Given the description of an element on the screen output the (x, y) to click on. 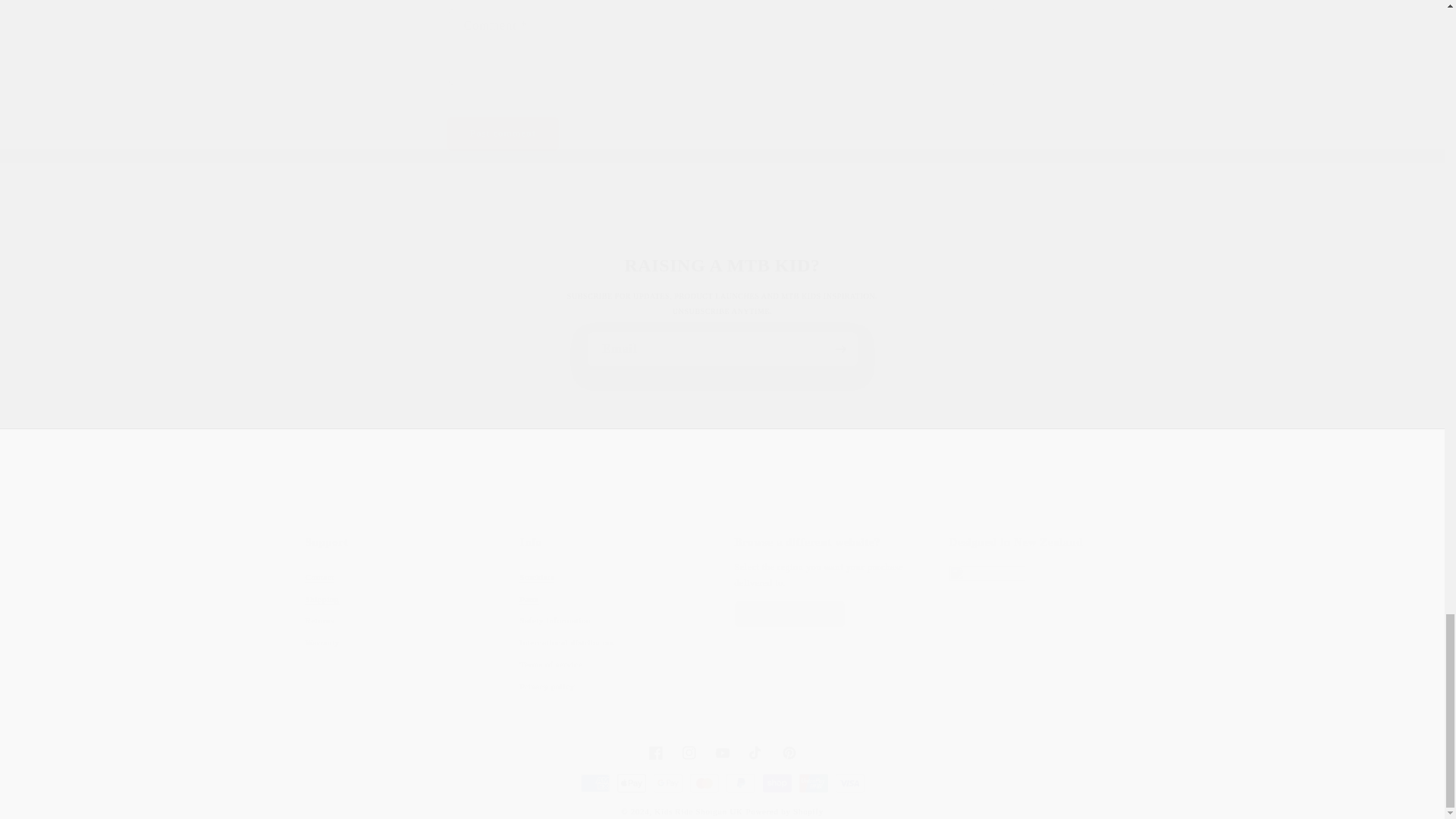
Email (399, 615)
Post comment (722, 348)
Designed in New Zealand (502, 133)
RAISING A MTB KID? (1044, 615)
